Given the description of an element on the screen output the (x, y) to click on. 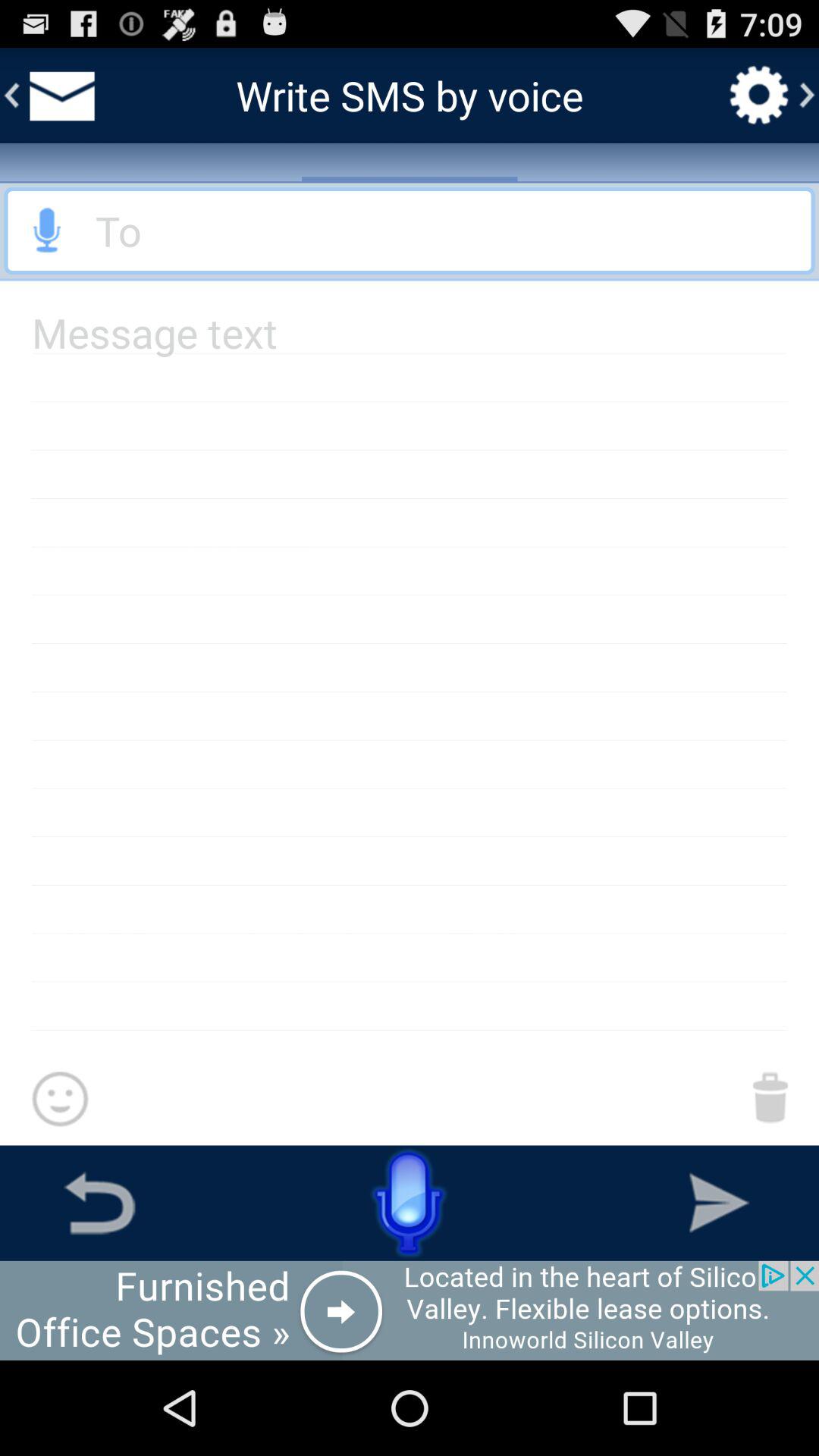
delete (770, 1097)
